Given the description of an element on the screen output the (x, y) to click on. 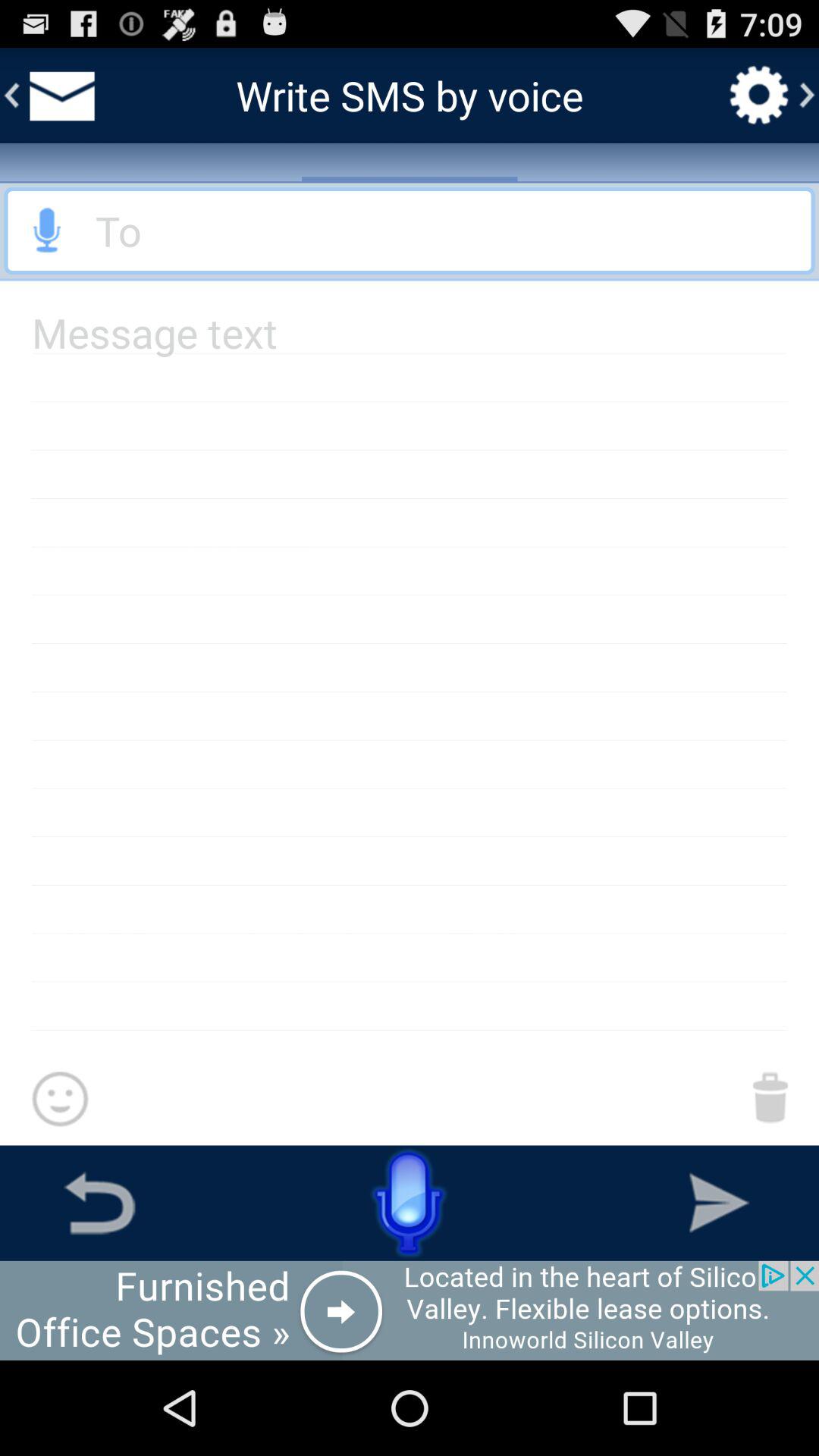
delete (770, 1097)
